Given the description of an element on the screen output the (x, y) to click on. 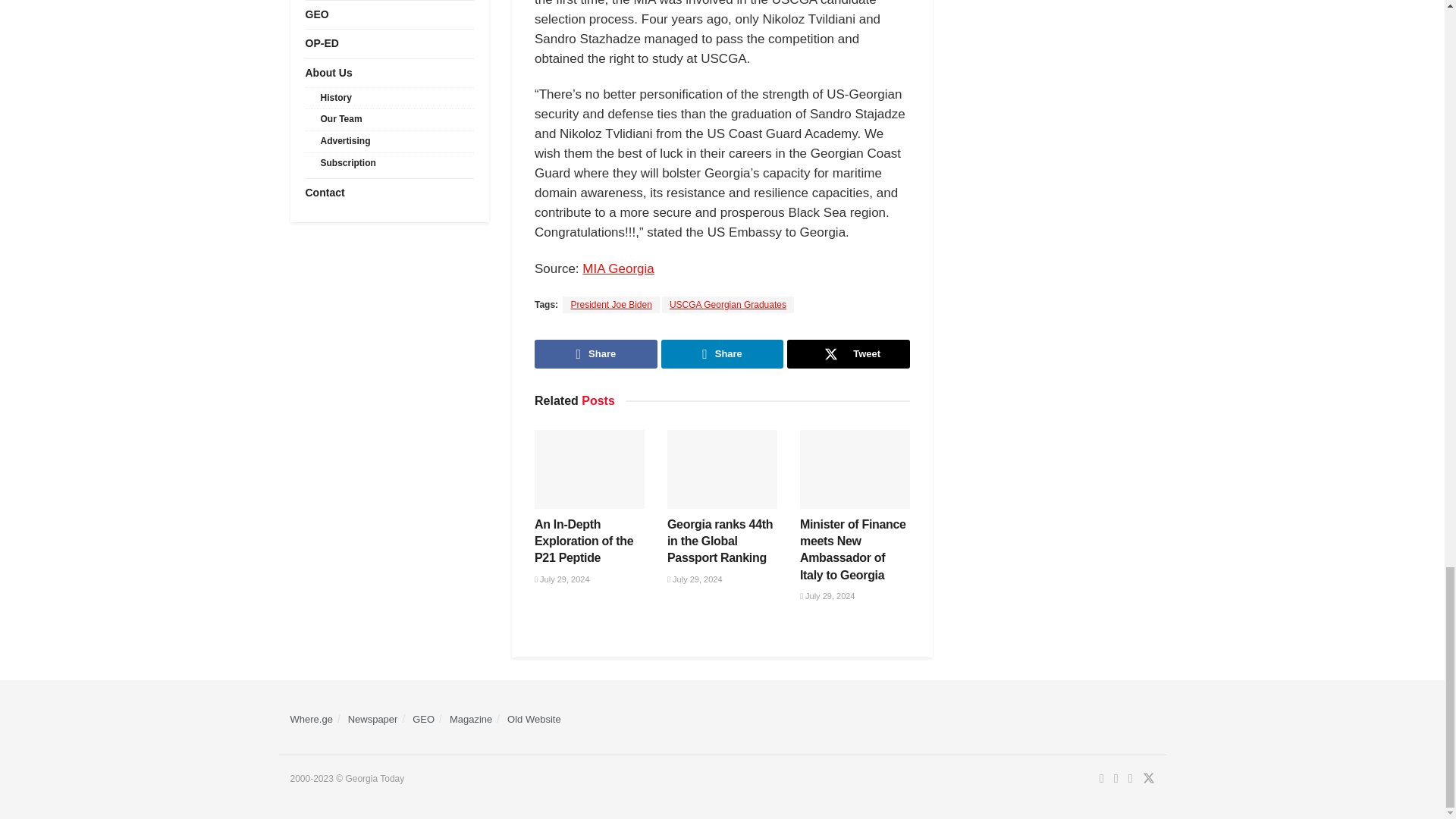
MIA Georgia (617, 268)
